Given the description of an element on the screen output the (x, y) to click on. 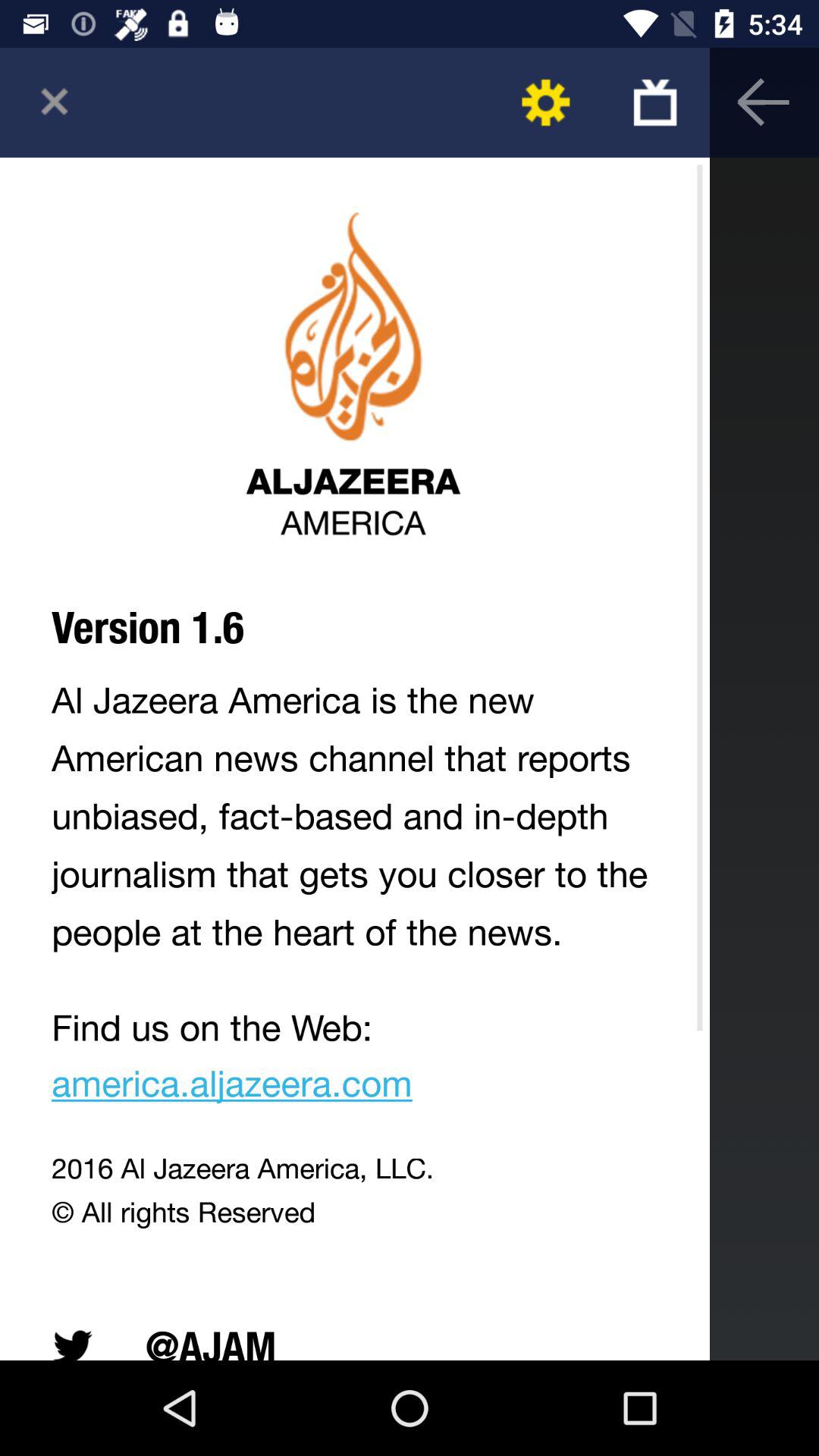
turn off button at the top right corner (654, 102)
